Given the description of an element on the screen output the (x, y) to click on. 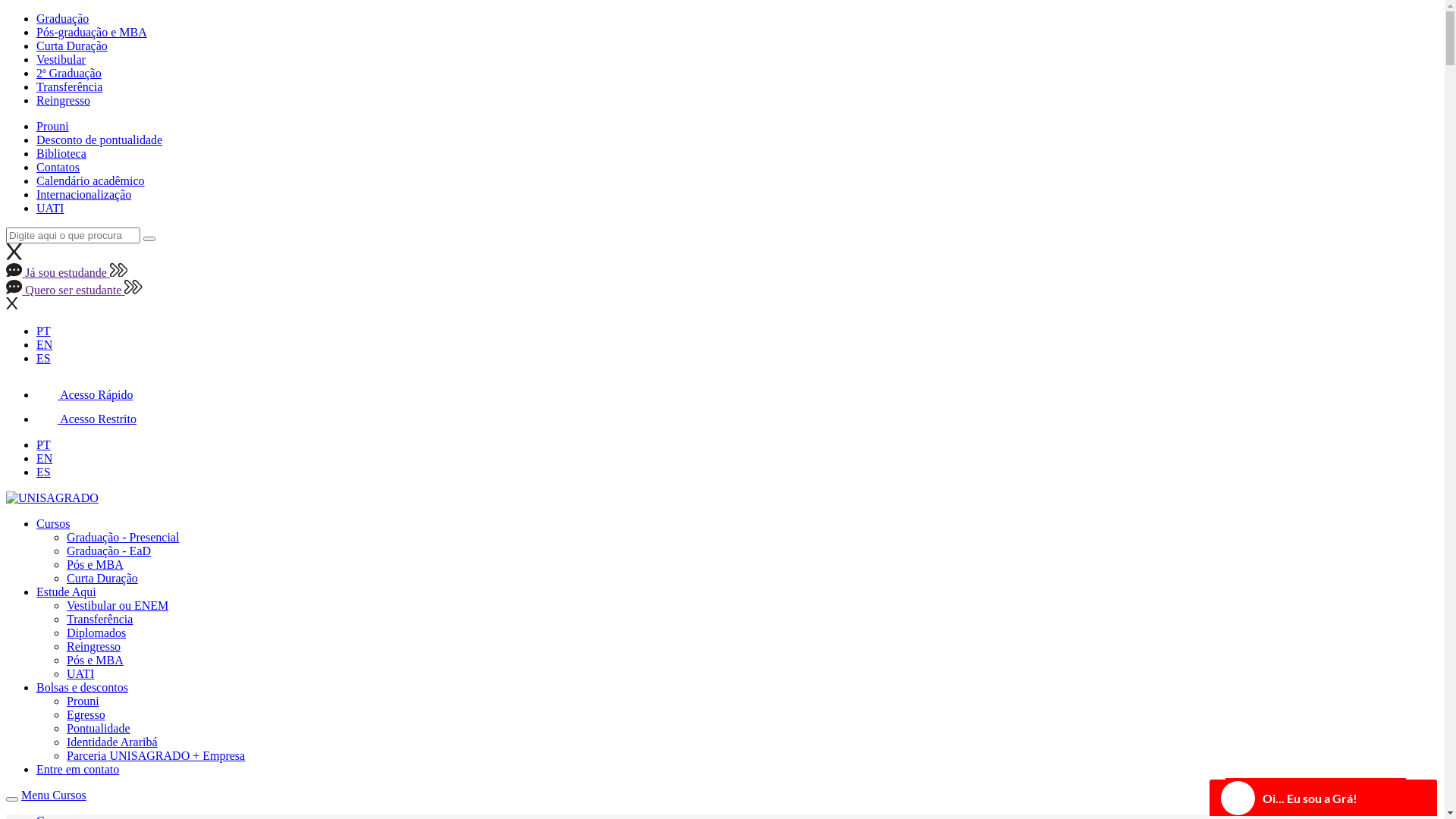
UATI Element type: text (80, 673)
Estude Aqui Element type: text (66, 591)
Parceria UNISAGRADO + Empresa Element type: text (155, 755)
PT Element type: text (43, 330)
Reingresso Element type: text (63, 100)
Bolsas e descontos Element type: text (82, 686)
Desconto de pontualidade Element type: text (99, 139)
EN Element type: text (44, 344)
Vestibular Element type: text (60, 59)
Egresso Element type: text (85, 714)
EN Element type: text (44, 457)
Diplomados Element type: text (95, 632)
Menu Cursos Element type: text (53, 794)
Pontualidade Element type: text (98, 727)
Vestibular ou ENEM Element type: text (117, 605)
Biblioteca Element type: text (61, 153)
ES Element type: text (43, 357)
Entre em contato Element type: text (77, 768)
PT Element type: text (43, 444)
Contatos Element type: text (57, 166)
UATI Element type: text (49, 207)
Prouni Element type: text (82, 700)
UNISAGRADO Element type: hover (52, 498)
ES Element type: text (43, 471)
Prouni Element type: text (52, 125)
Reingresso Element type: text (93, 646)
Cursos Element type: text (52, 523)
